Given the description of an element on the screen output the (x, y) to click on. 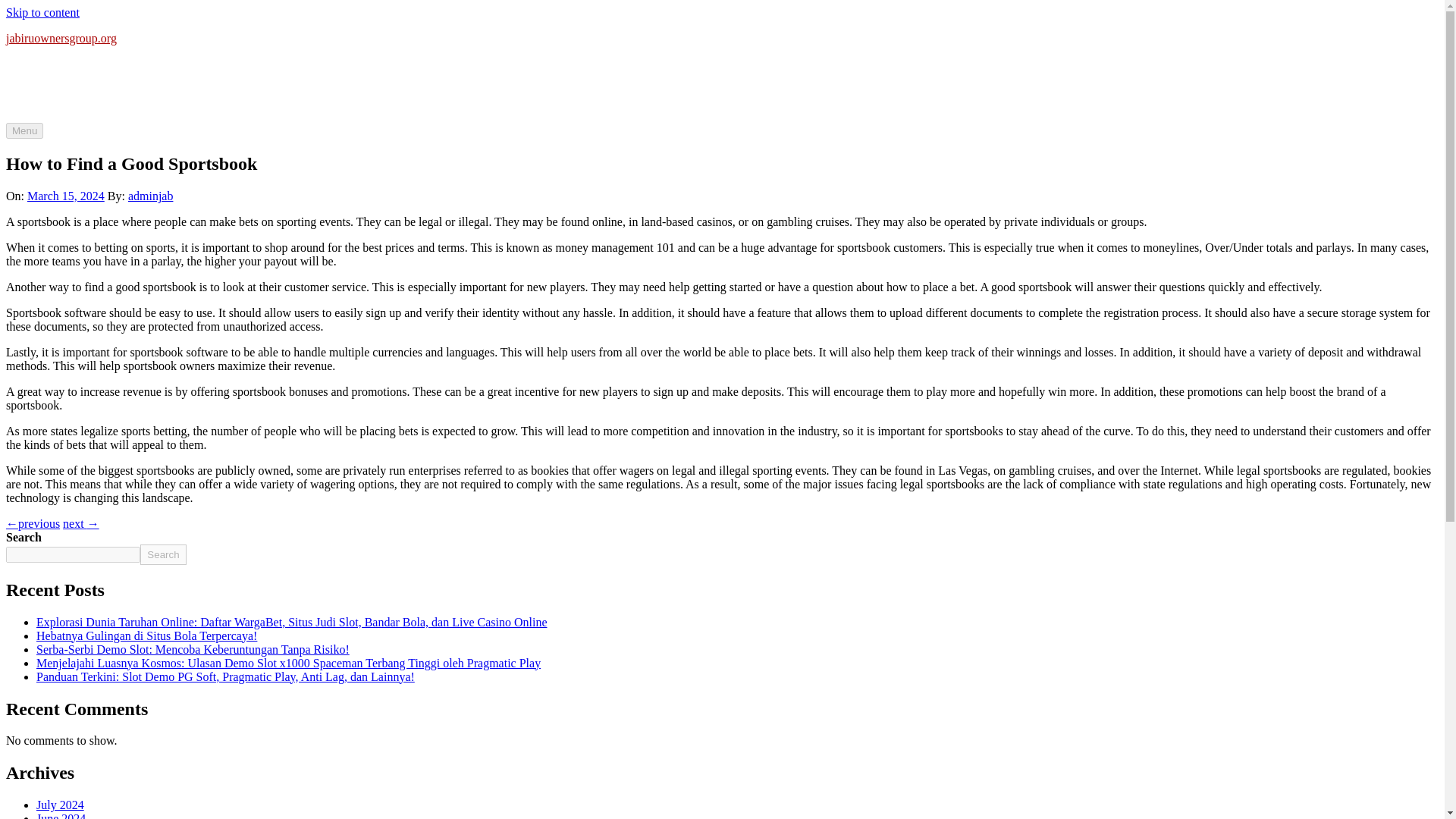
jabiruownersgroup.org (60, 38)
July 2024 (60, 804)
March 15, 2024 (65, 195)
Serba-Serbi Demo Slot: Mencoba Keberuntungan Tanpa Risiko! (192, 649)
Menu (24, 130)
June 2024 (60, 815)
adminjab (150, 195)
Search (162, 554)
Hebatnya Gulingan di Situs Bola Terpercaya! (146, 635)
Skip to content (42, 11)
